Given the description of an element on the screen output the (x, y) to click on. 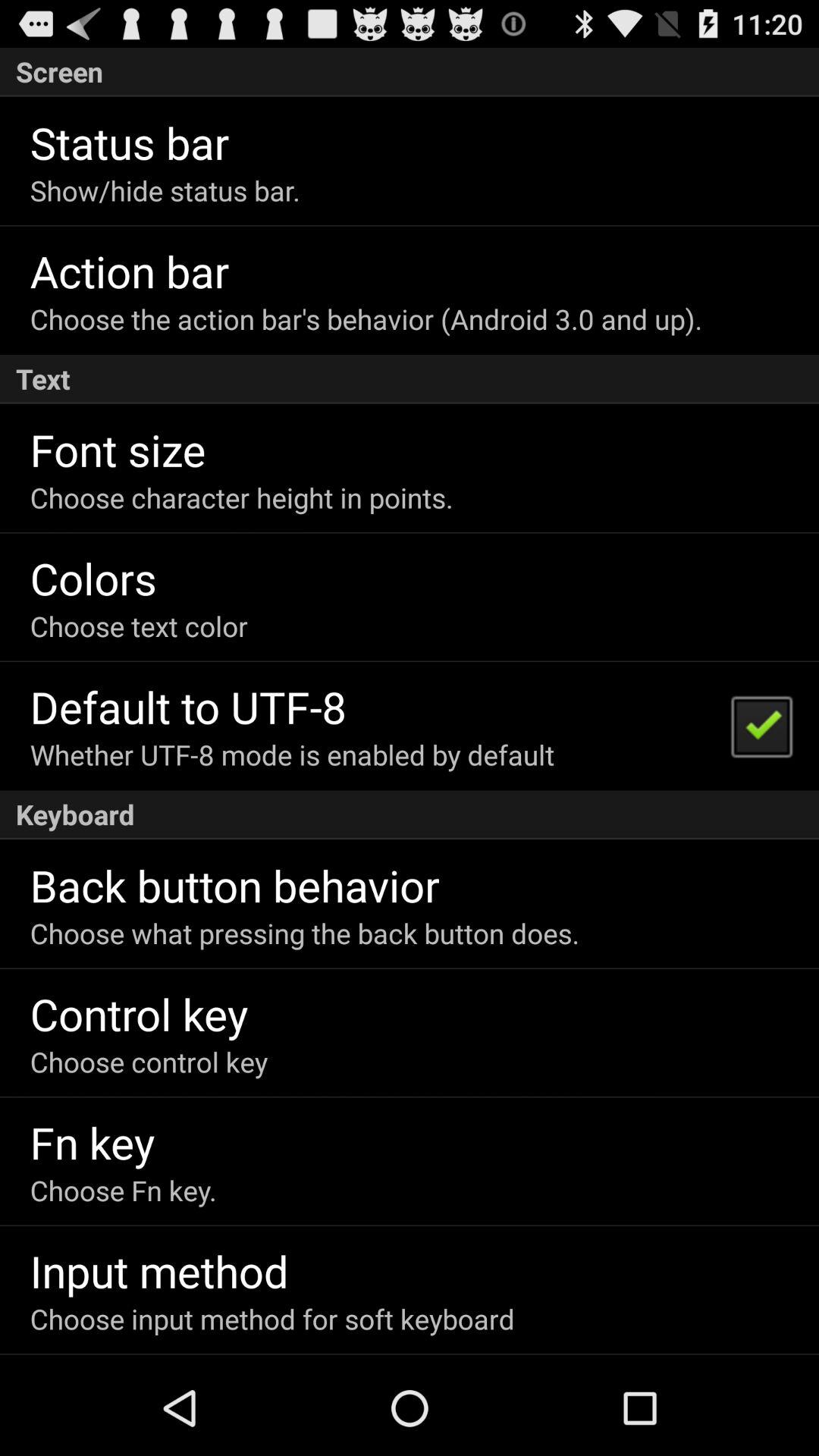
select the icon to the right of the whether utf 8 icon (761, 725)
